Given the description of an element on the screen output the (x, y) to click on. 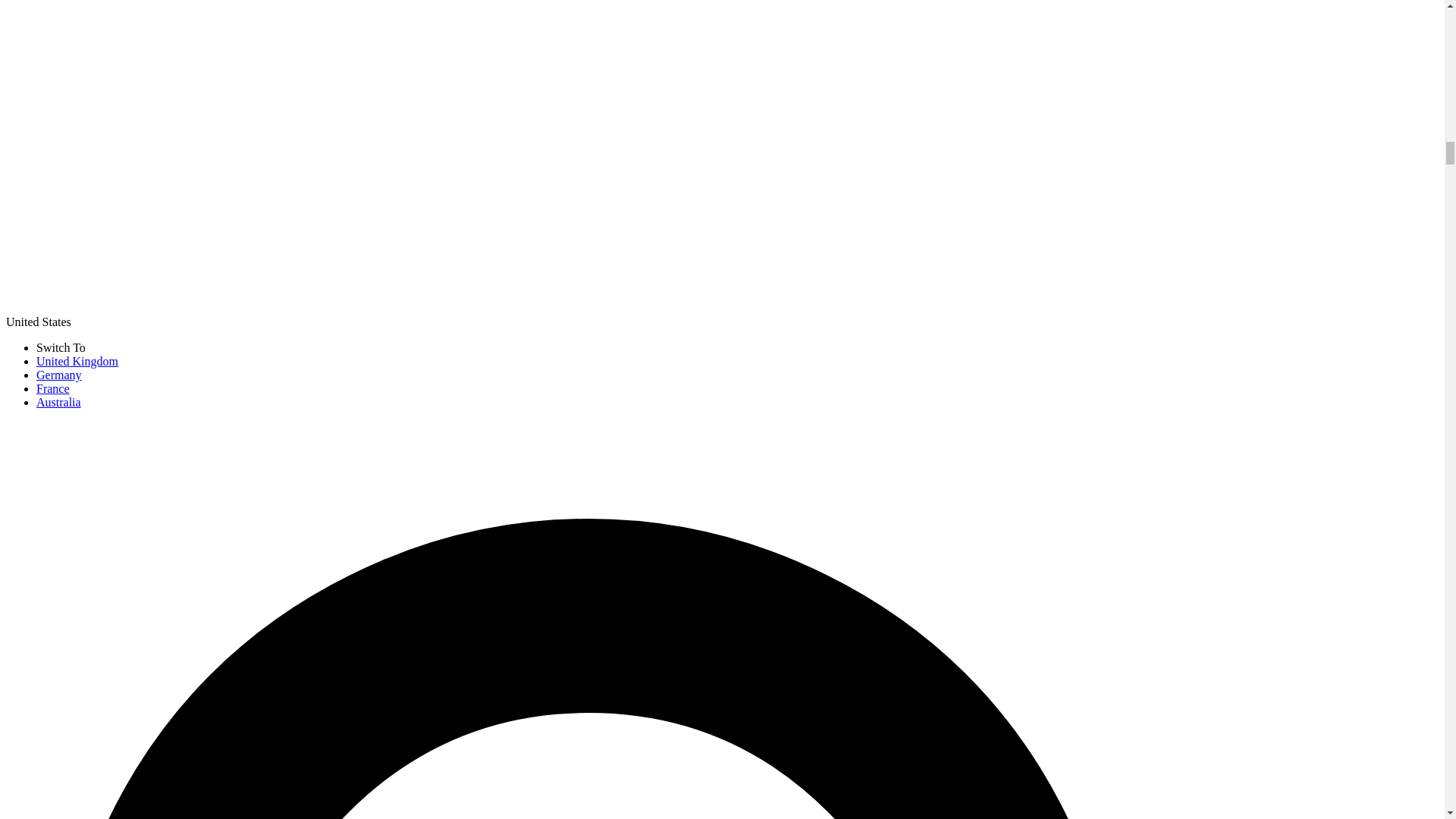
Germany (58, 374)
Australia (58, 401)
United Kingdom (76, 360)
France (52, 388)
